Given the description of an element on the screen output the (x, y) to click on. 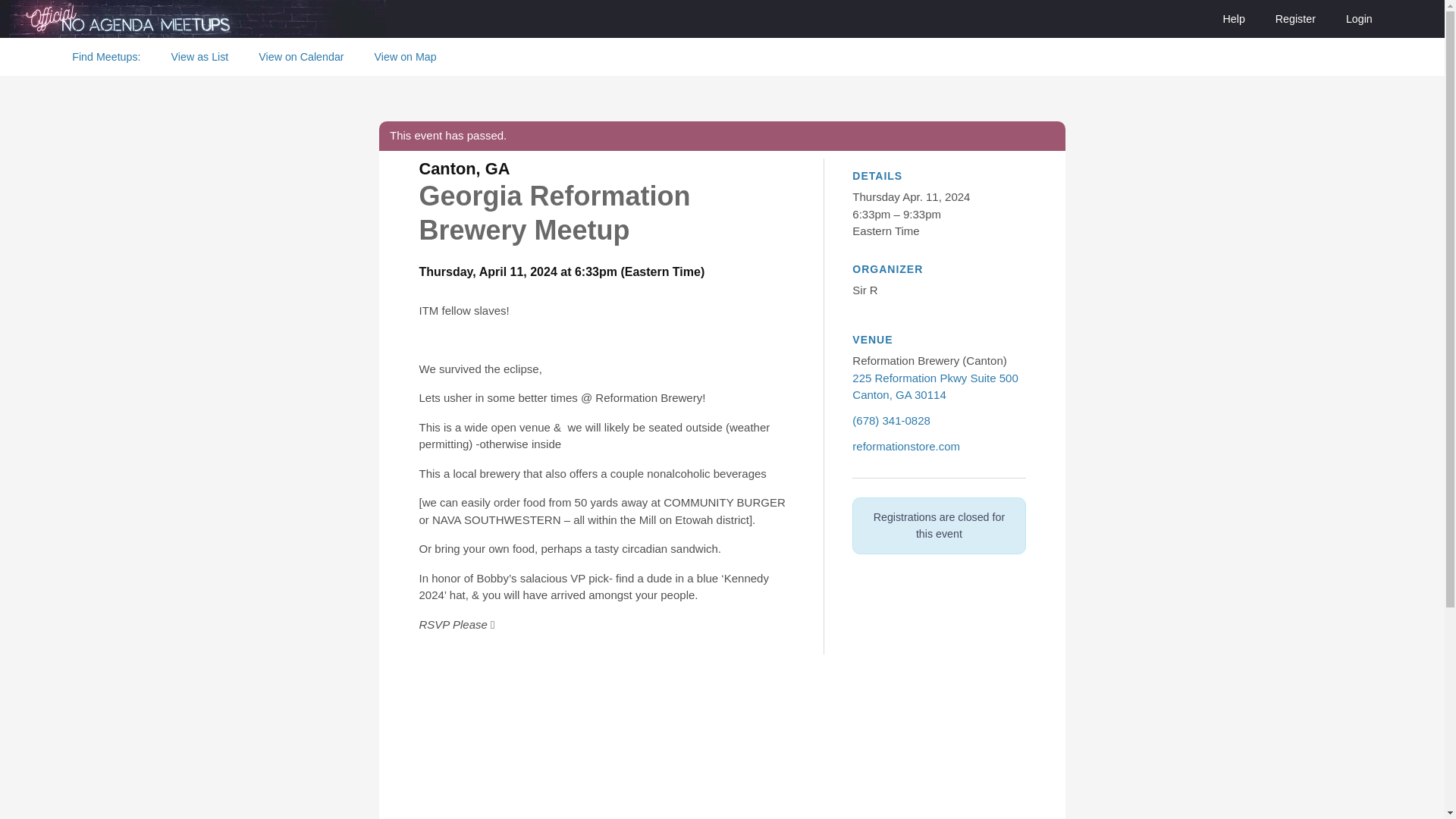
Login (1358, 18)
View on Calendar (300, 56)
View on Map (405, 56)
Help (1233, 18)
View as List (199, 56)
reformationstore.com (905, 445)
Find Meetups: (934, 386)
Register (105, 56)
